Given the description of an element on the screen output the (x, y) to click on. 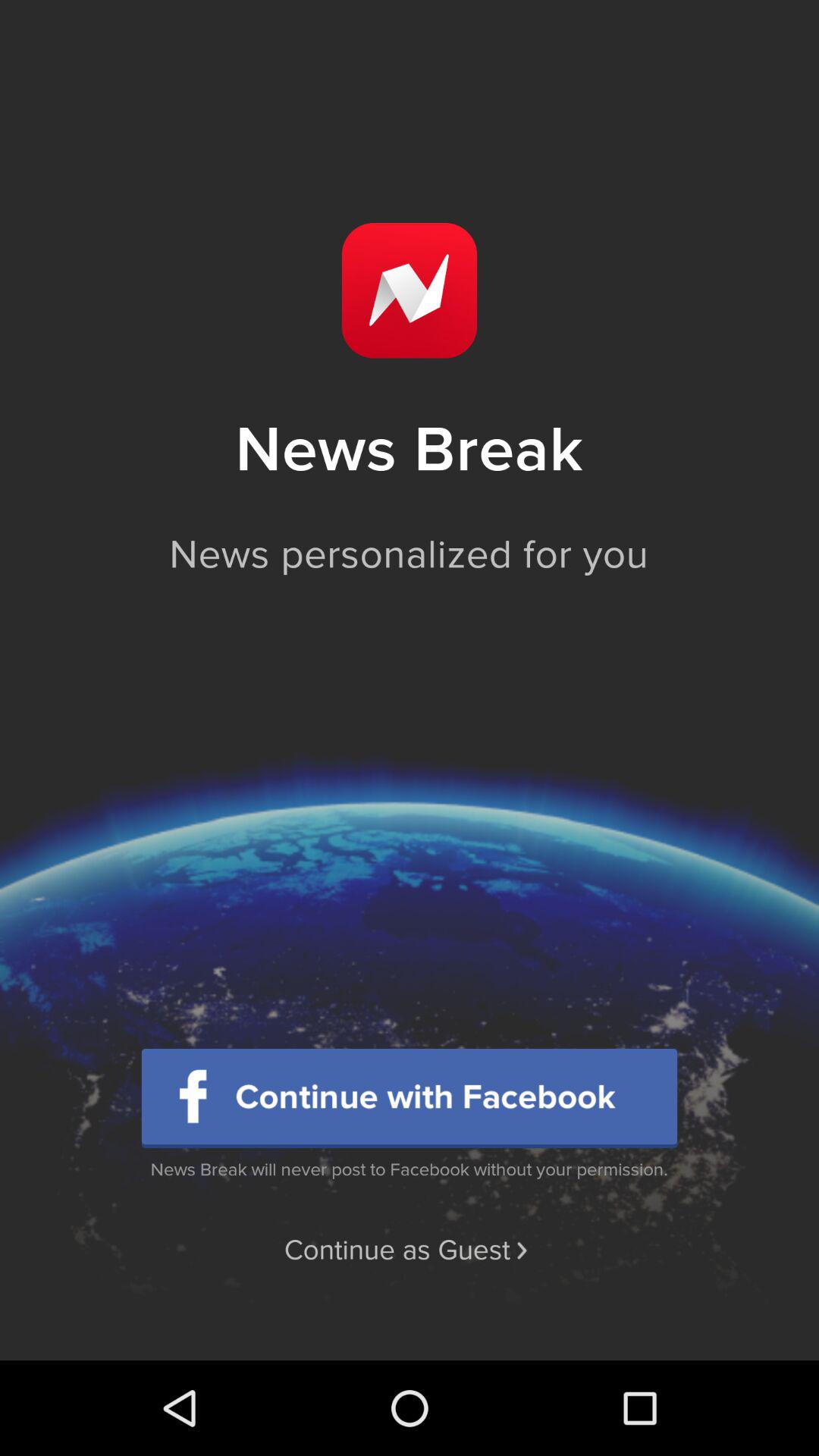
continue with facebook (409, 1098)
